Given the description of an element on the screen output the (x, y) to click on. 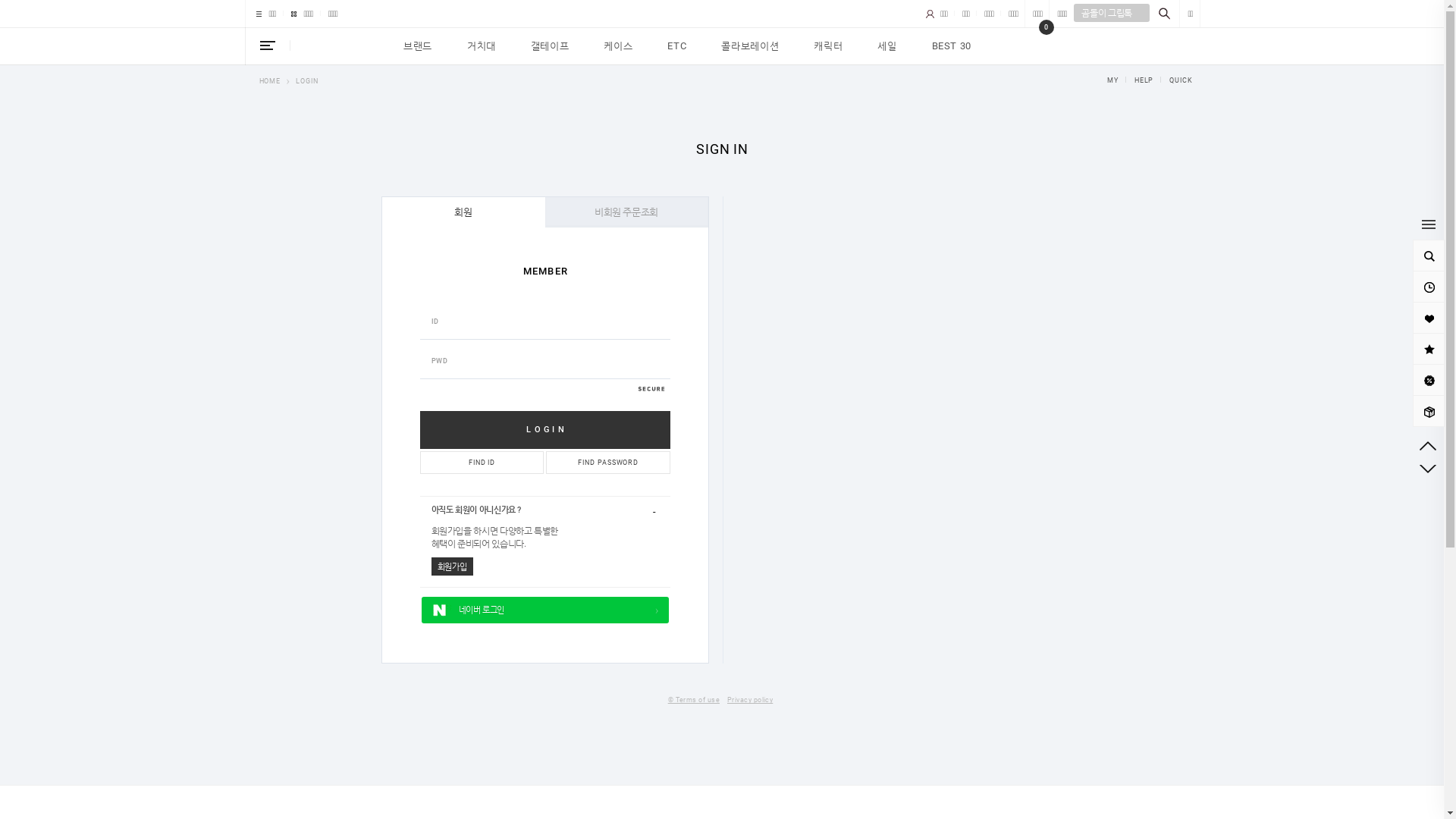
HOME Element type: text (270, 80)
LOGIN Element type: text (545, 429)
ID Element type: hover (545, 320)
ETC Element type: text (676, 46)
HELP Element type: text (1137, 80)
FIND ID Element type: text (481, 462)
LOGIN Element type: text (306, 80)
Privacy policy Element type: text (749, 699)
FIND PASSWORD Element type: text (607, 462)
BEST 30 Element type: text (951, 46)
PWD Element type: hover (545, 360)
QUICK Element type: text (1173, 80)
MY Element type: text (1112, 80)
